Given the description of an element on the screen output the (x, y) to click on. 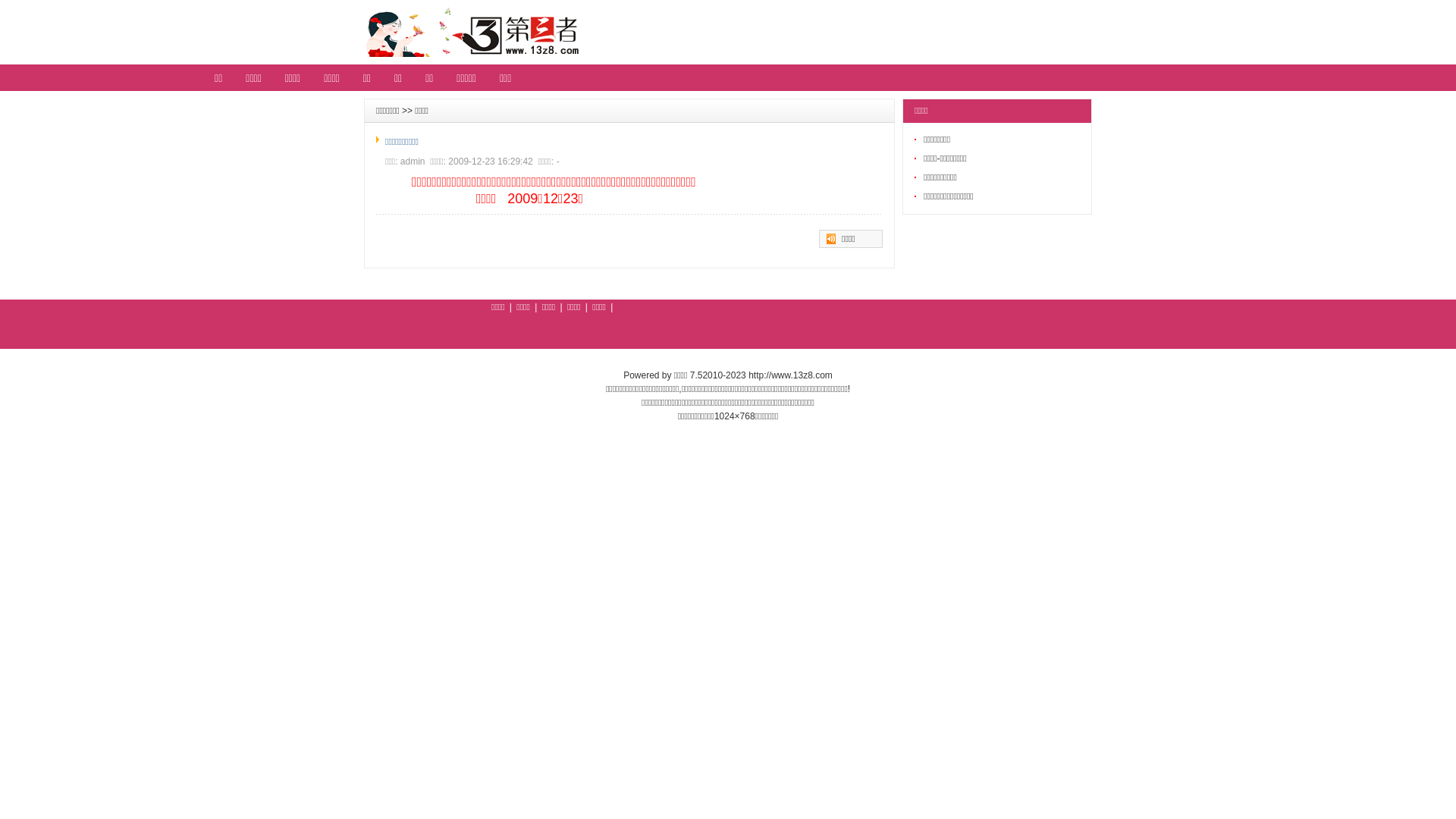
http://www.13z8.com Element type: text (790, 375)
